Given the description of an element on the screen output the (x, y) to click on. 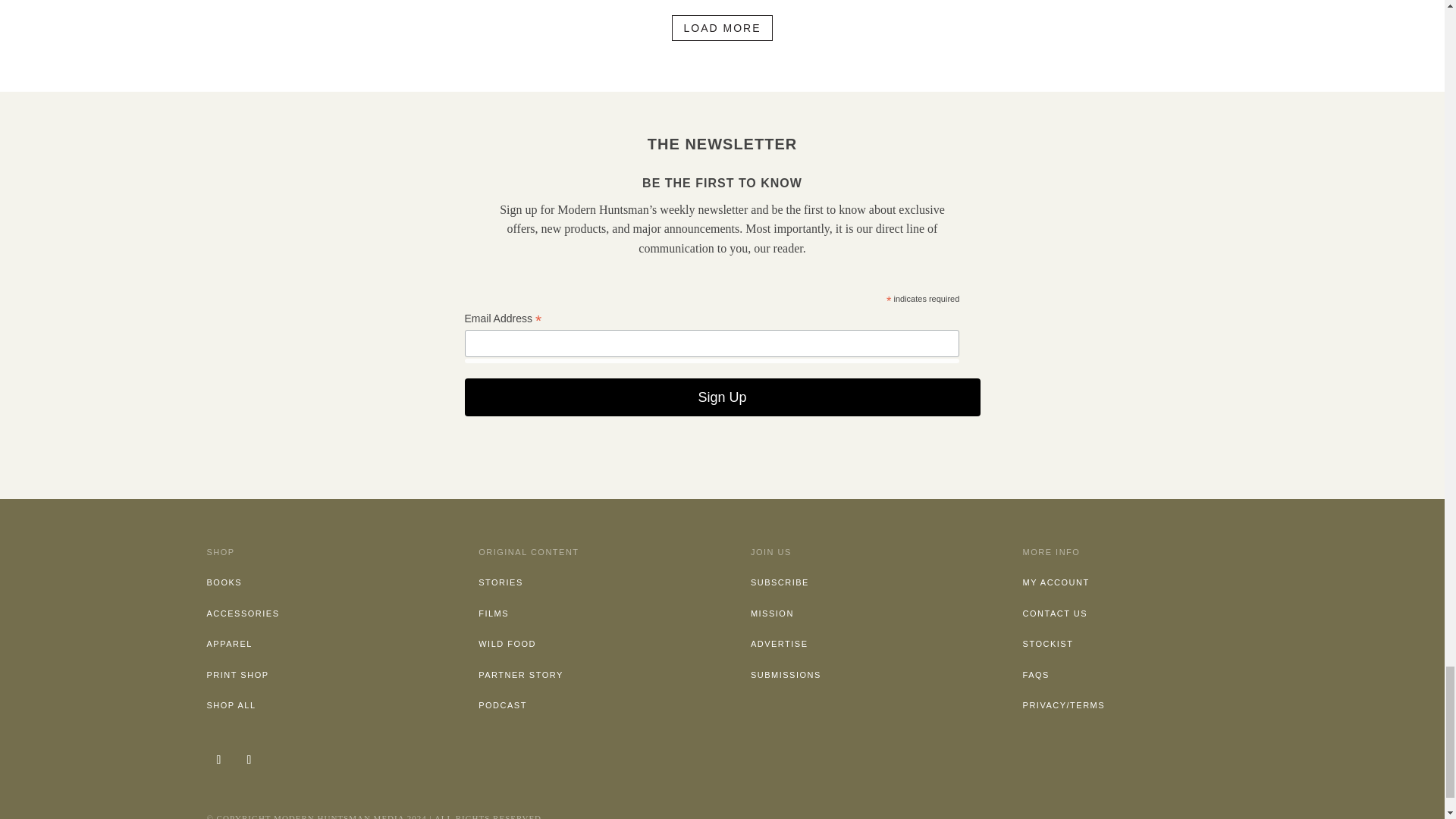
Follow on Facebook (247, 759)
Follow on Instagram (218, 759)
Sign Up (721, 397)
